Given the description of an element on the screen output the (x, y) to click on. 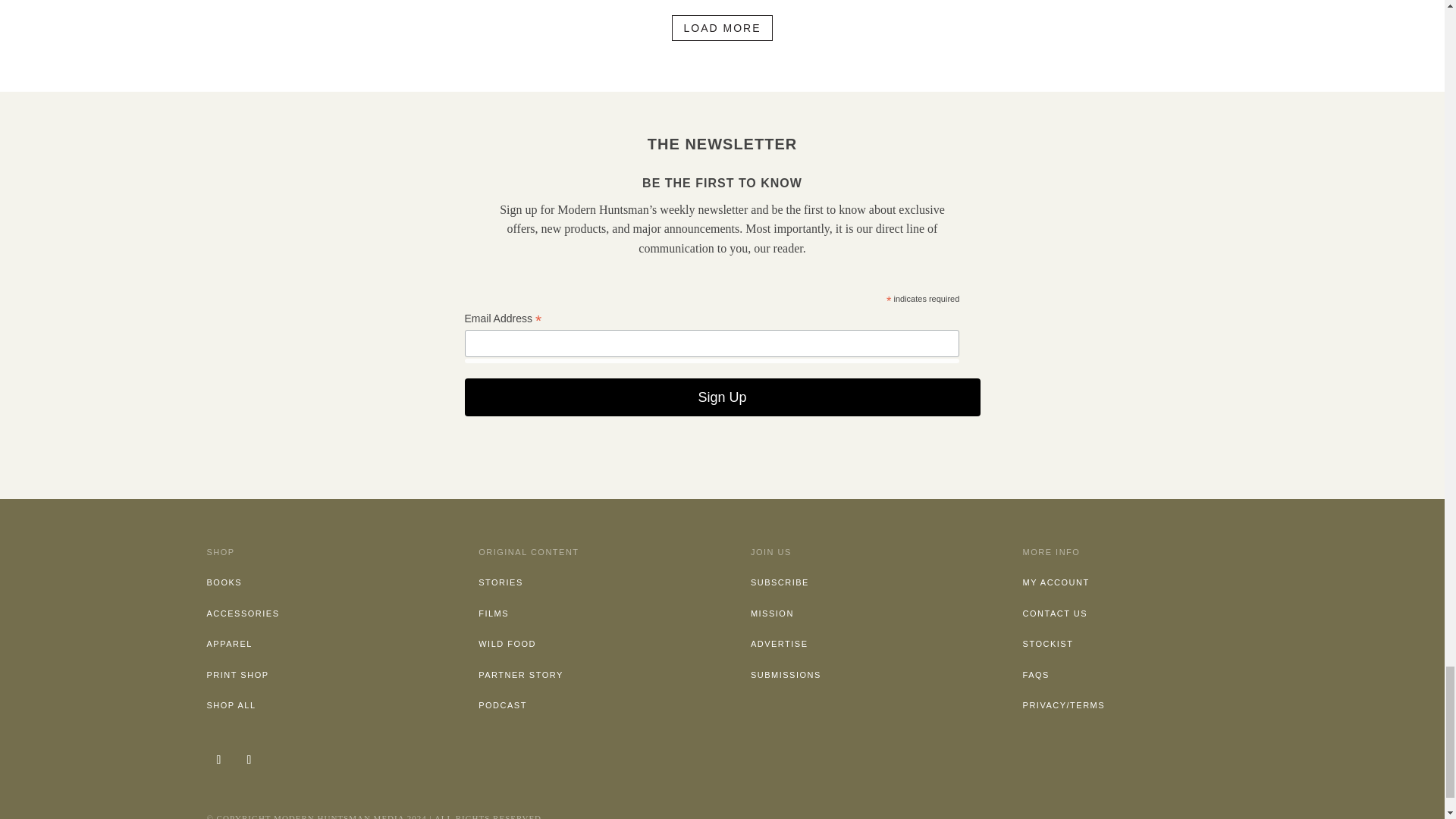
Follow on Facebook (247, 759)
Follow on Instagram (218, 759)
Sign Up (721, 397)
